Given the description of an element on the screen output the (x, y) to click on. 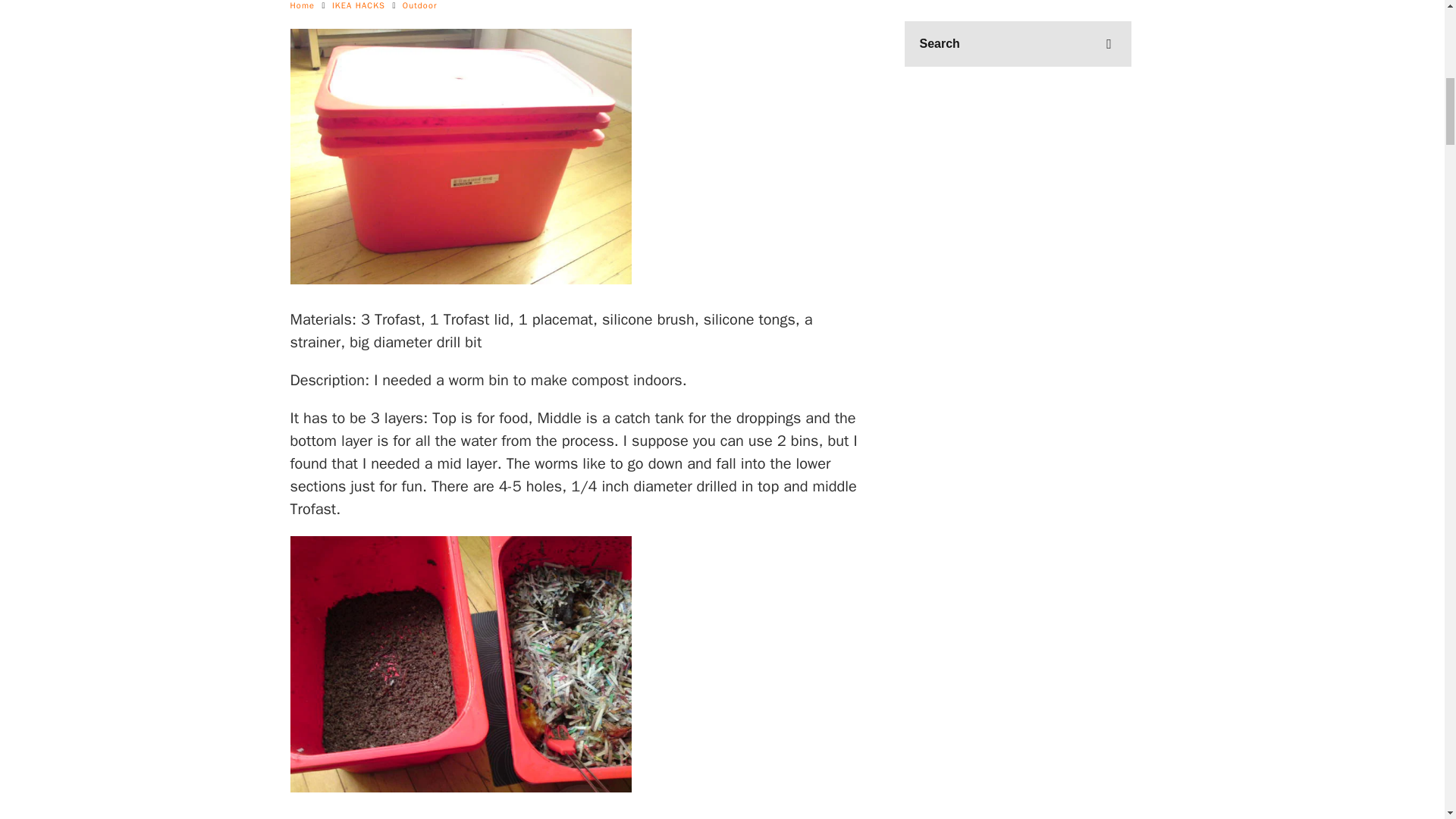
IKEA HACKS (358, 5)
Outdoor (420, 5)
Home (301, 5)
